Given the description of an element on the screen output the (x, y) to click on. 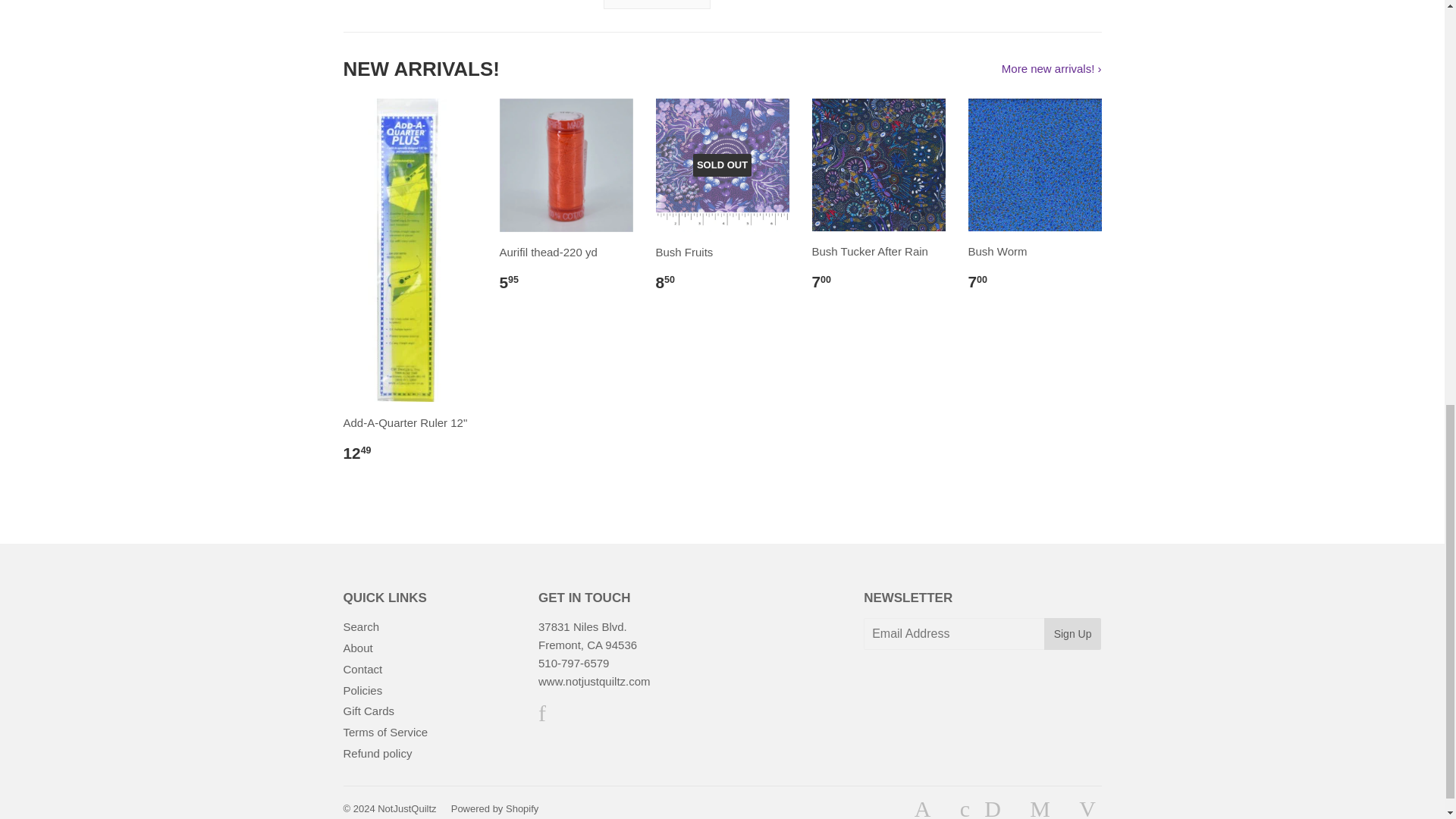
NotJustQuiltz on Facebook (542, 716)
Batik Textiles (657, 4)
Browse our Batik Textiles collection (657, 4)
